Given the description of an element on the screen output the (x, y) to click on. 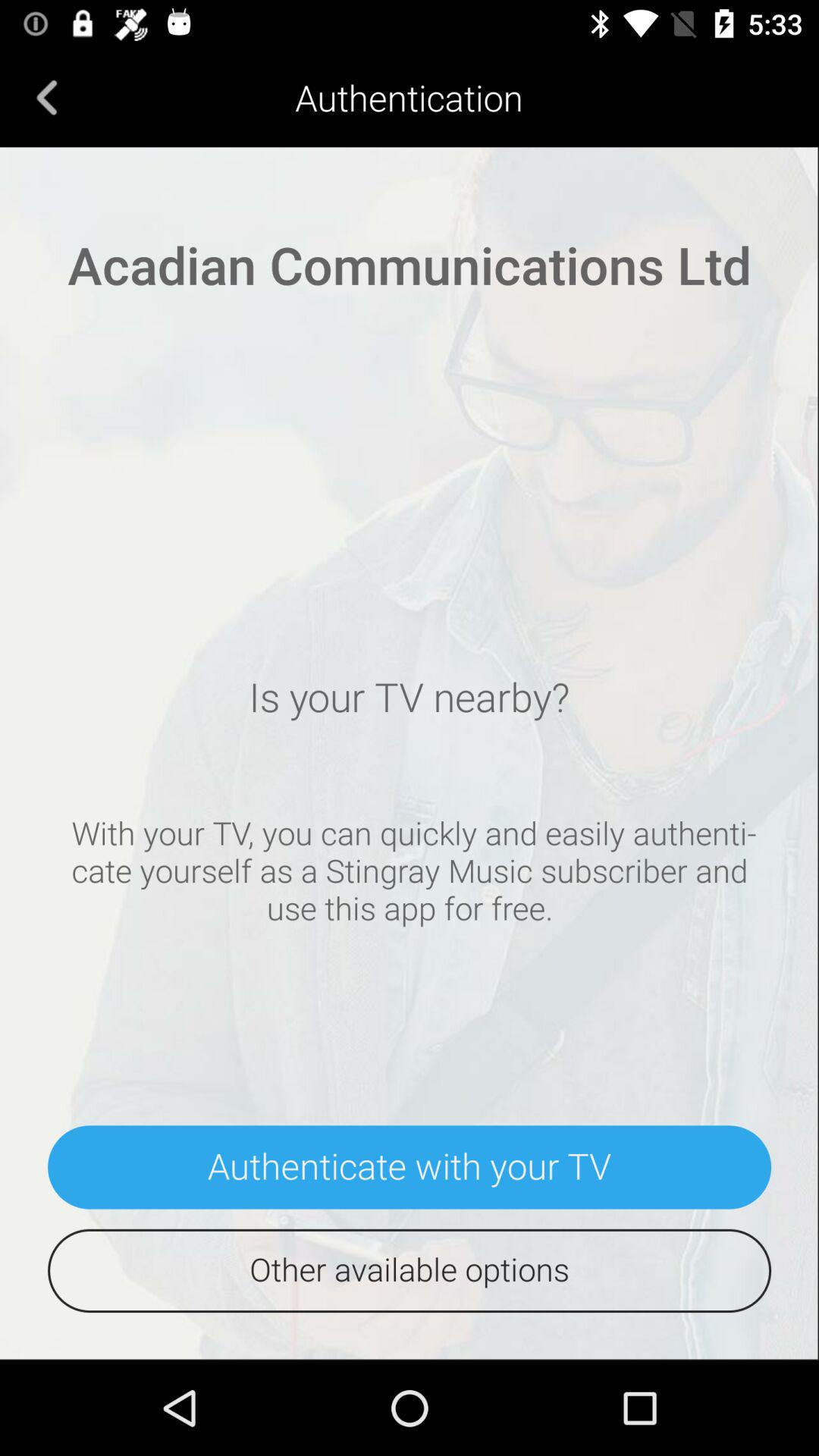
press icon next to authentication item (47, 97)
